Given the description of an element on the screen output the (x, y) to click on. 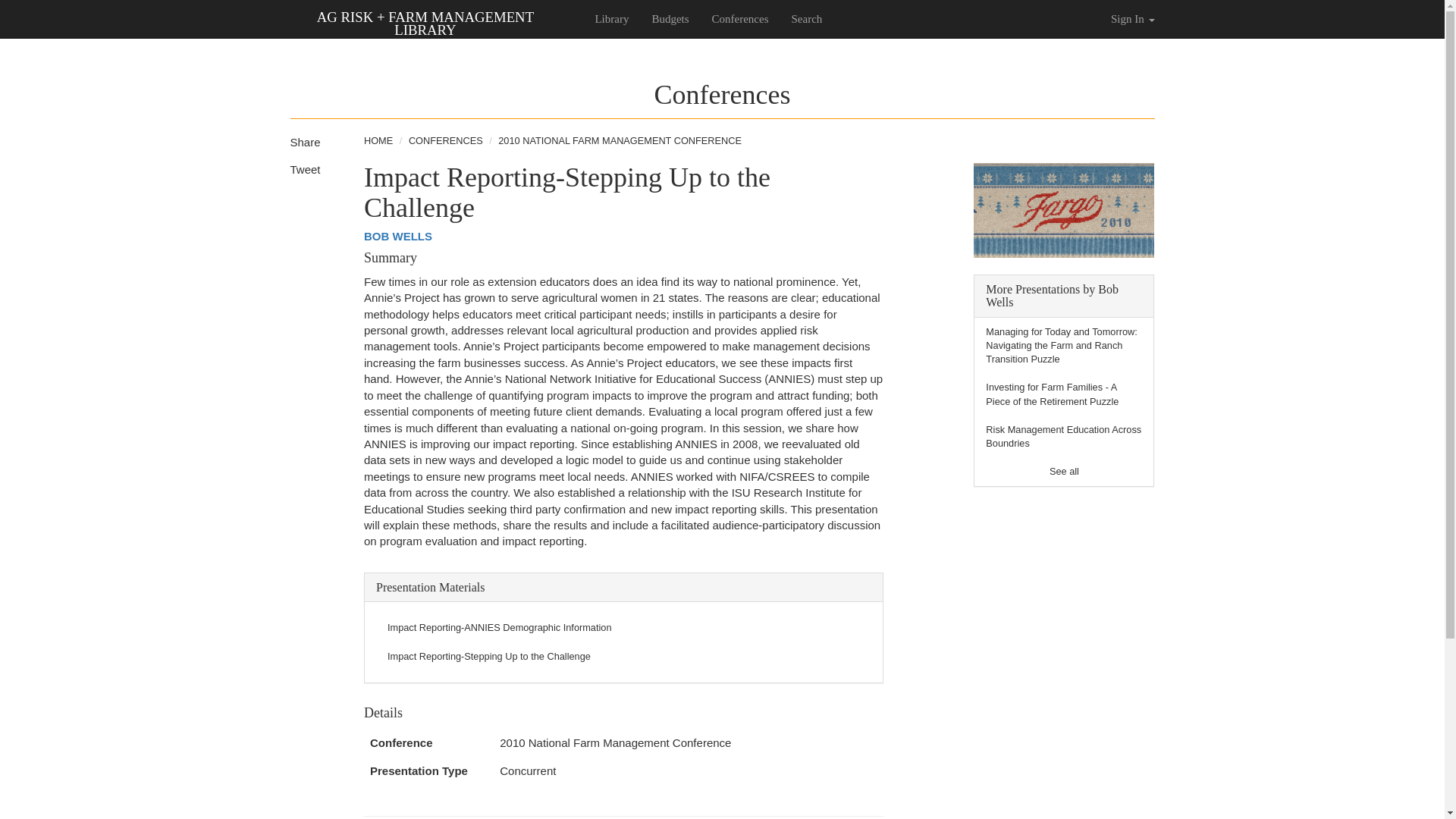
Search (807, 18)
Sign In (1132, 18)
Budgets (670, 18)
Concurrent (527, 770)
Search (807, 18)
Risk Management Education Across Boundries (1063, 436)
Impact Reporting-ANNIES Demographic Information (499, 627)
Conferences (740, 18)
See all (1063, 471)
Share (304, 141)
Tweet (304, 169)
HOME (378, 140)
BOB WELLS (398, 236)
Budgets (670, 18)
